Given the description of an element on the screen output the (x, y) to click on. 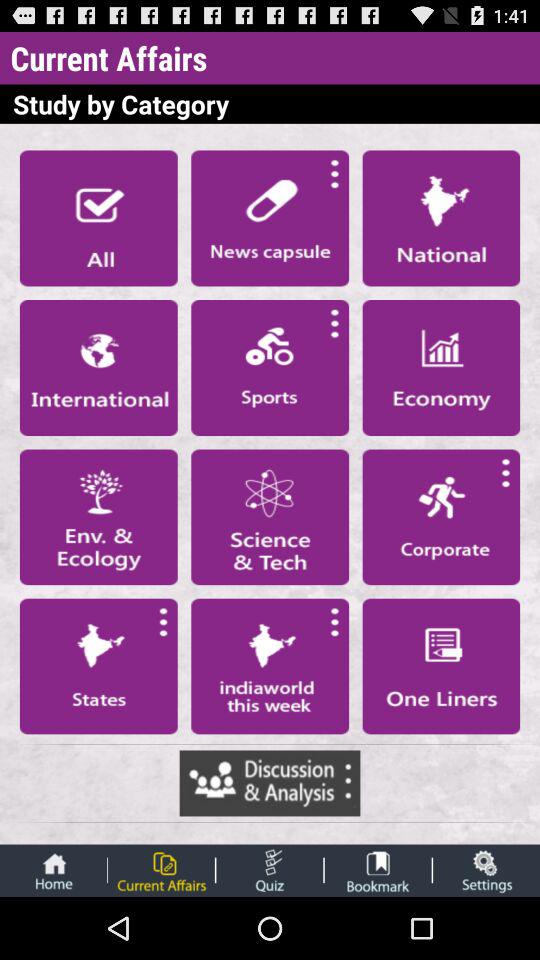
all category (98, 218)
